Given the description of an element on the screen output the (x, y) to click on. 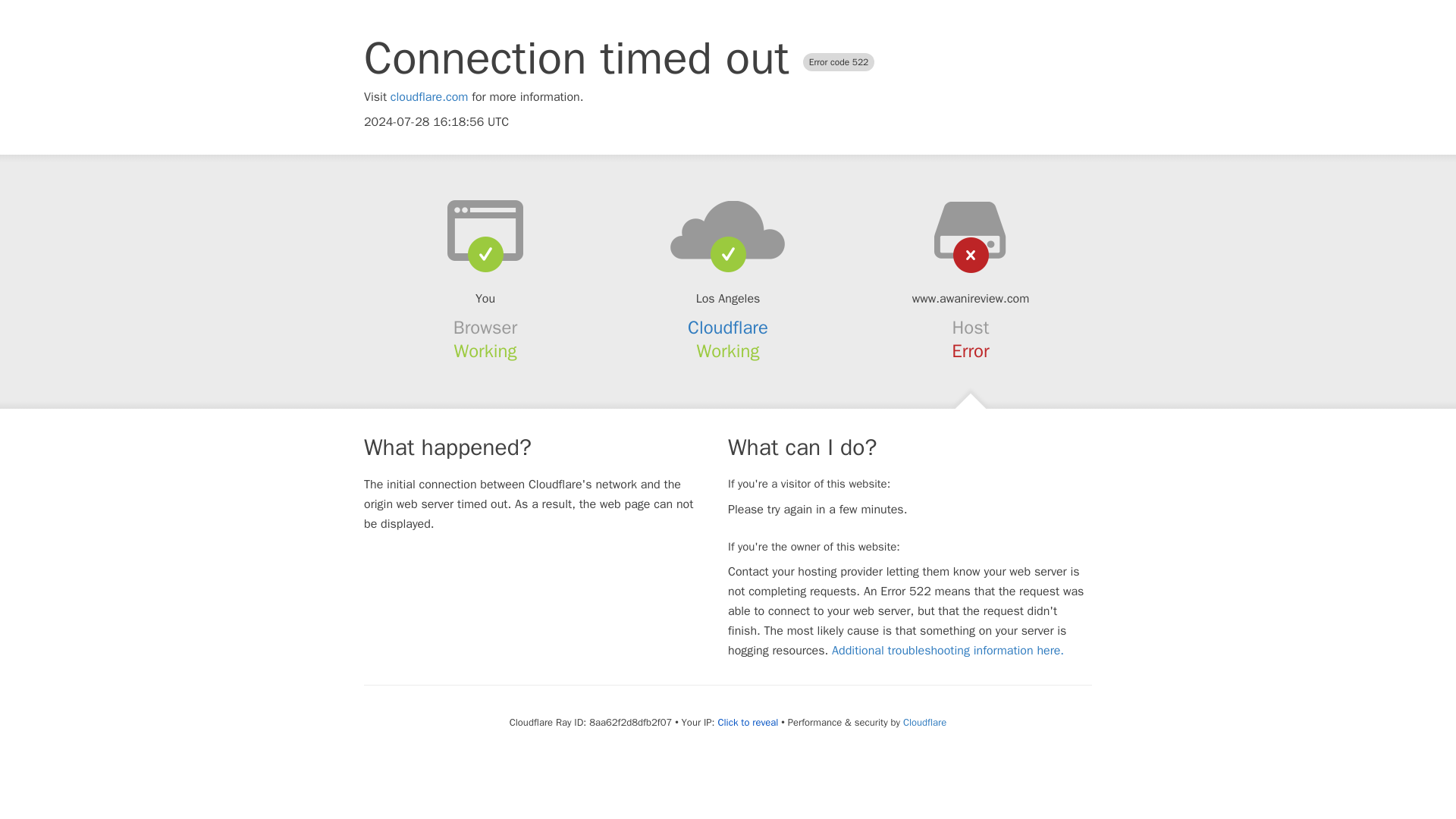
Cloudflare (727, 327)
cloudflare.com (429, 96)
Cloudflare (924, 721)
Click to reveal (747, 722)
Additional troubleshooting information here. (947, 650)
